Given the description of an element on the screen output the (x, y) to click on. 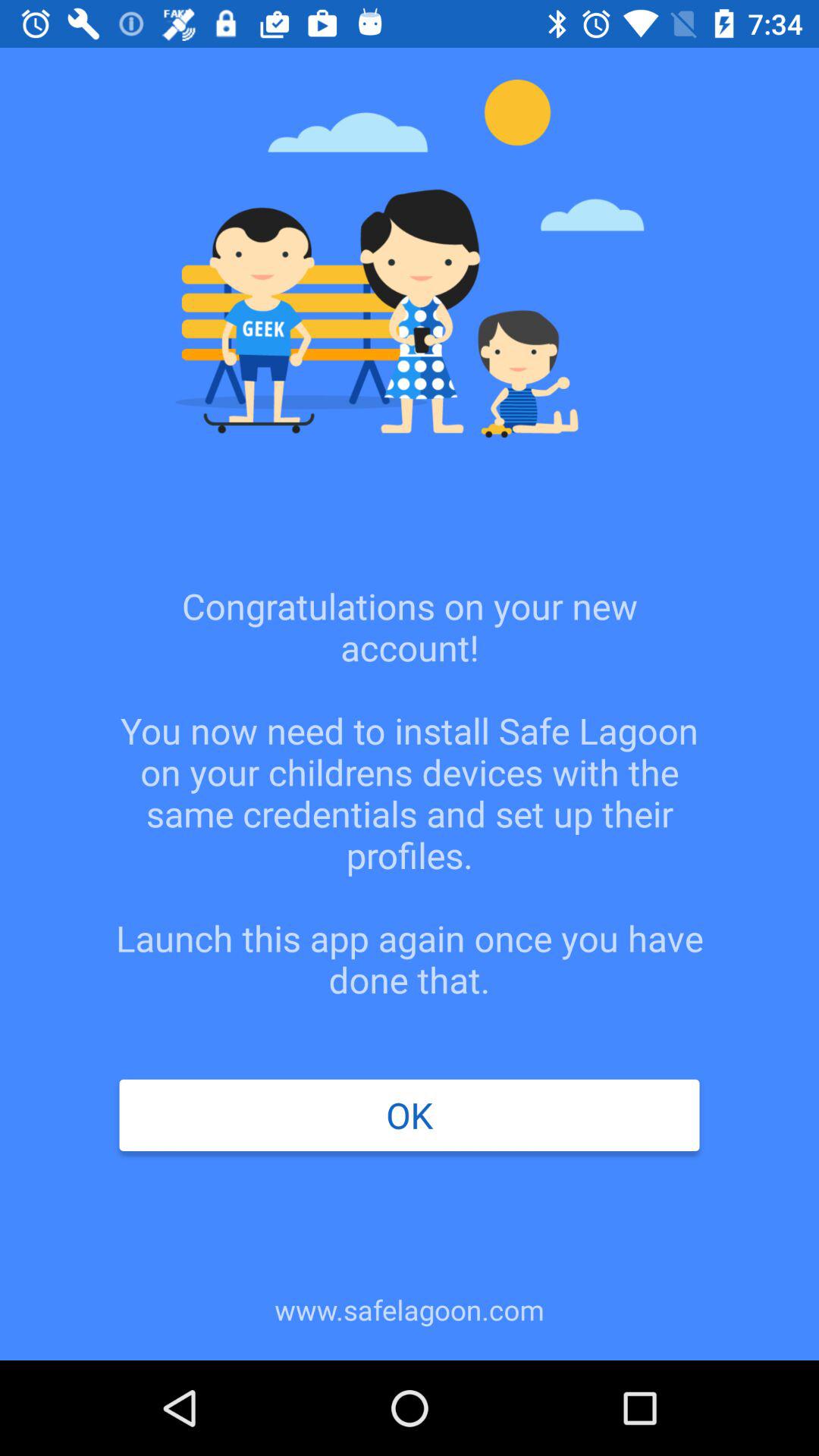
swipe until the ok item (409, 1115)
